Given the description of an element on the screen output the (x, y) to click on. 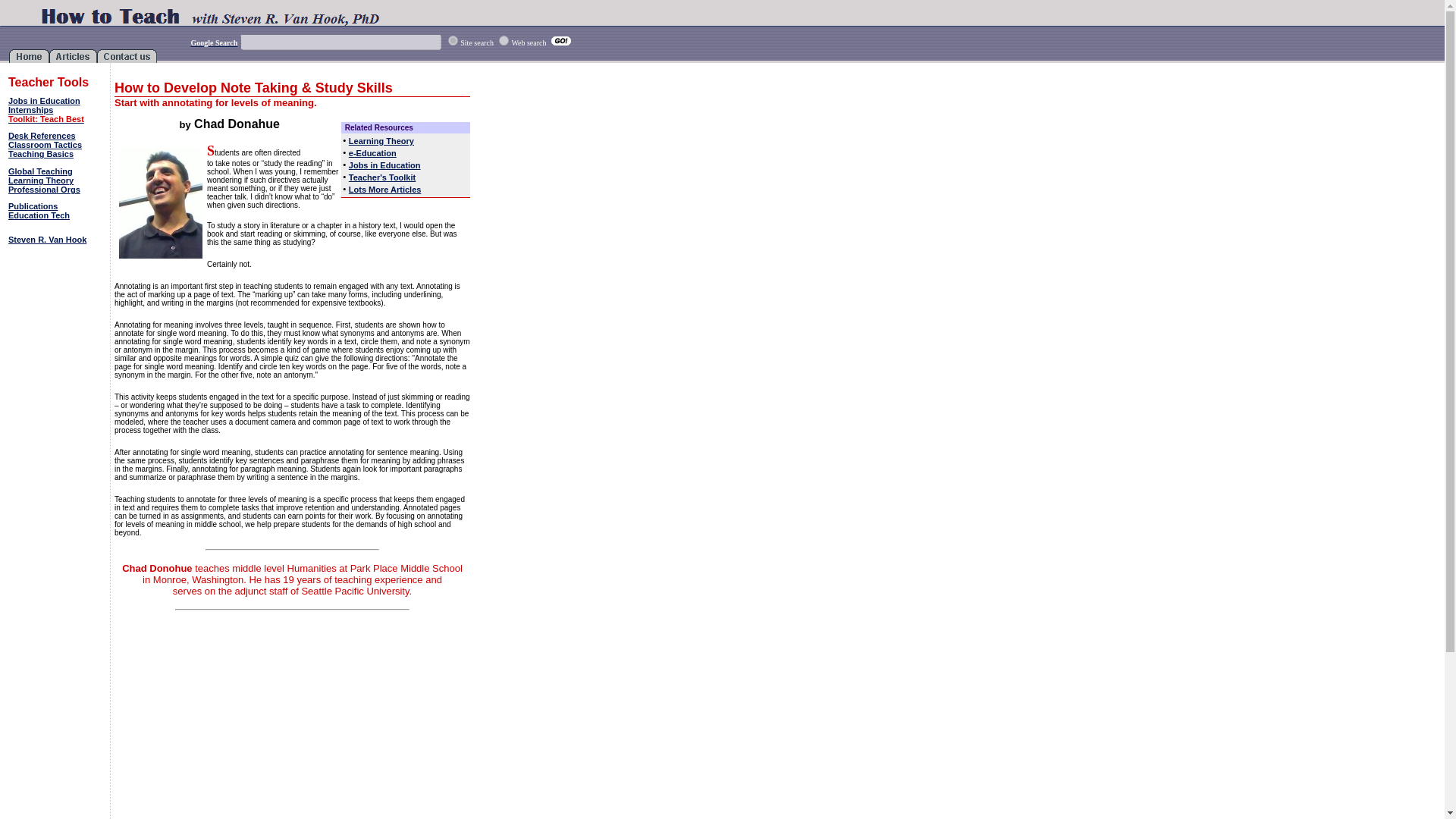
Google Search (214, 41)
Advertisement (604, 213)
Learning Theory (41, 180)
Publications (33, 205)
Jobs in Education (384, 164)
Advertisement (56, 298)
Global Teaching (40, 171)
Toolkit: Teach Best (46, 118)
Professional Orgs (44, 189)
Learning Theory (381, 140)
Steven R. Van Hook (46, 239)
Jobs in Education (44, 100)
Lots More Articles (385, 189)
Desk References (41, 135)
Internships (30, 109)
